Given the description of an element on the screen output the (x, y) to click on. 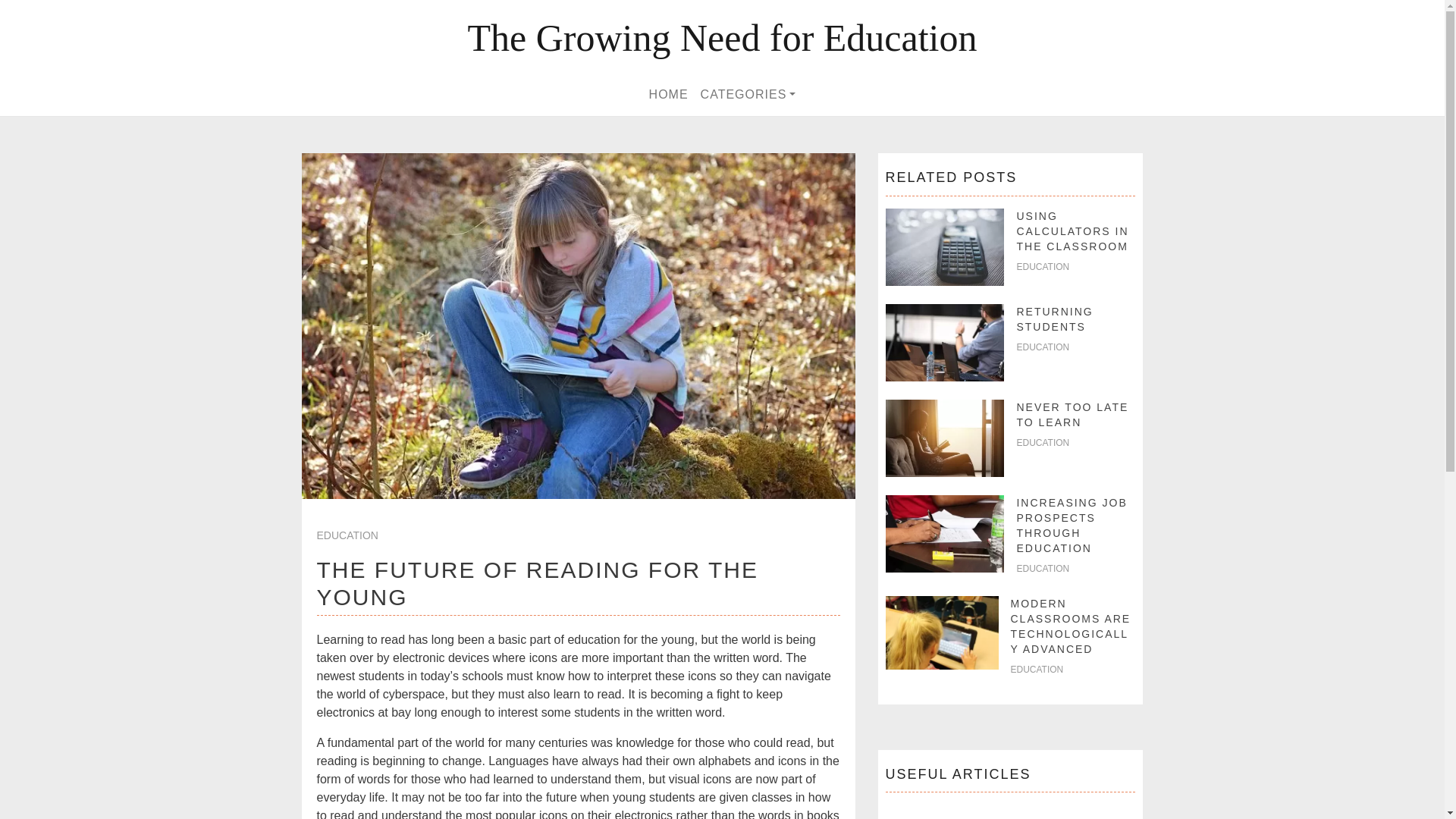
USING CALCULATORS IN THE CLASSROOM (1072, 230)
INCREASING JOB PROSPECTS THROUGH EDUCATION (1071, 525)
EDUCATION (1036, 669)
EDUCATION (1042, 347)
CATEGORIES (748, 94)
APPLIED LEARNING (947, 817)
EDUCATION (347, 535)
NEVER TOO LATE TO LEARN (1072, 414)
The Growing Need for Education (721, 37)
EDUCATION (1042, 266)
